Given the description of an element on the screen output the (x, y) to click on. 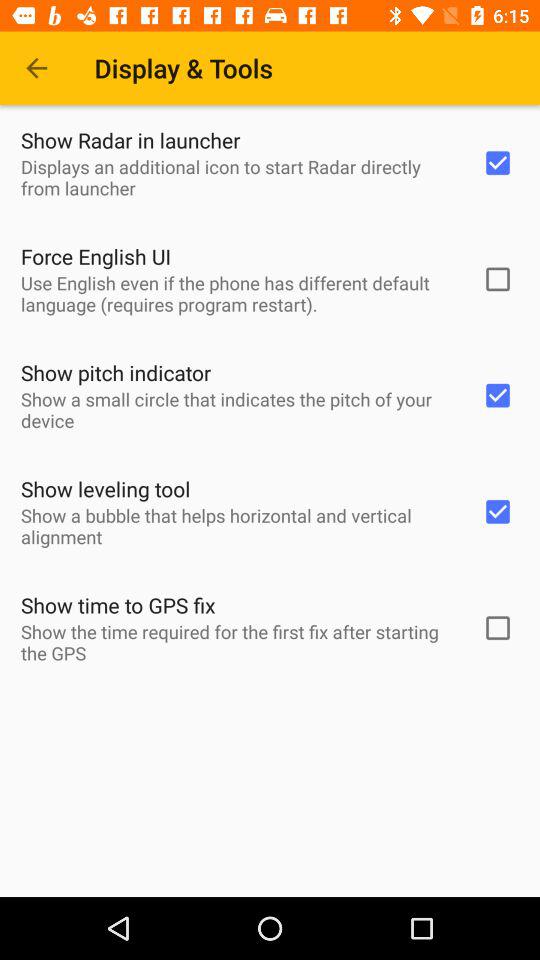
swipe to show leveling tool item (105, 488)
